Given the description of an element on the screen output the (x, y) to click on. 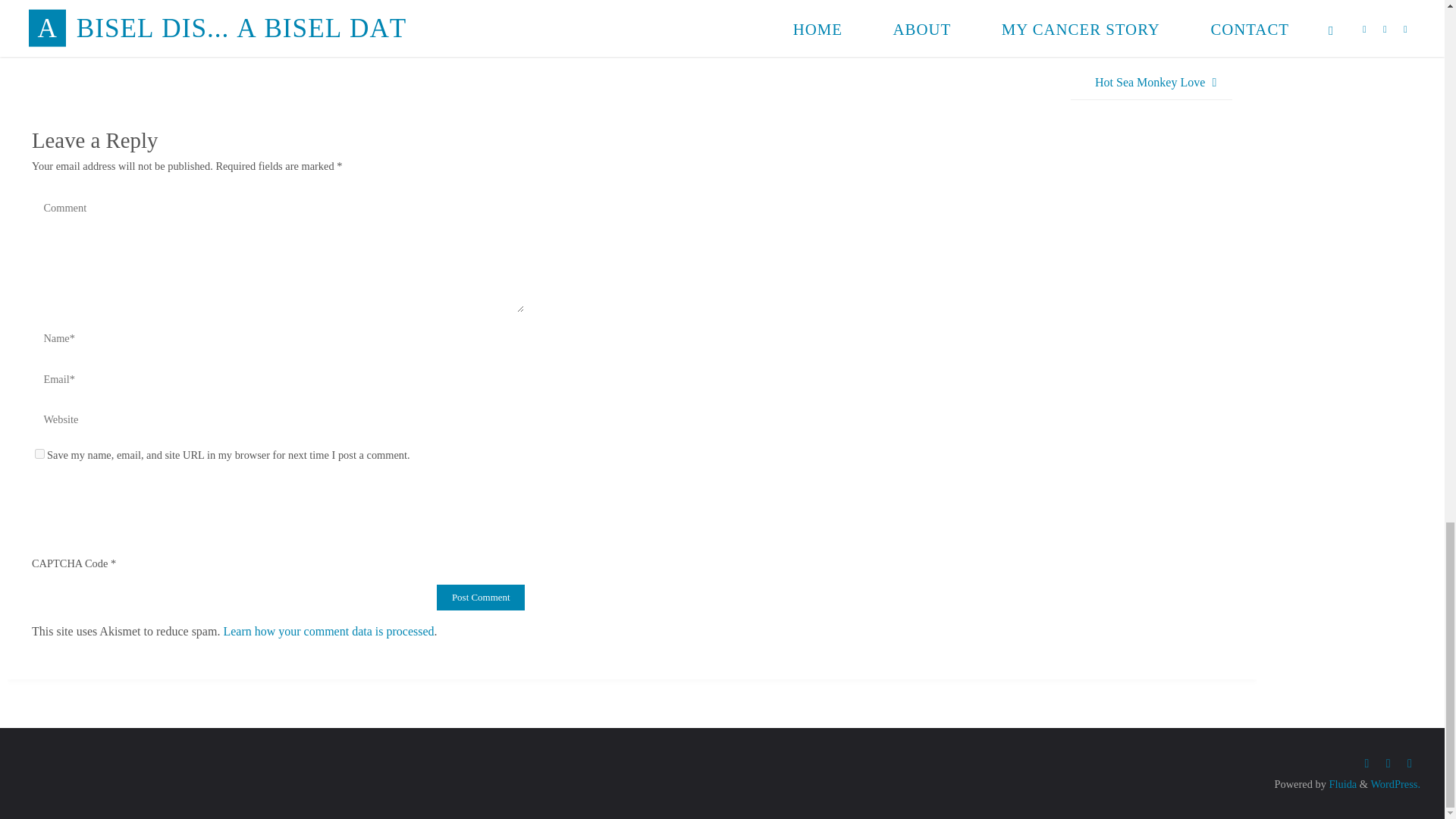
yes (39, 453)
Post Comment (480, 597)
Fluida WordPress Theme by Cryout Creations (1341, 784)
Refresh (140, 493)
CAPTCHA (82, 500)
Costa Maya (86, 48)
Learn how your comment data is processed (327, 631)
Post Comment (480, 597)
Hot Sea Monkey Love (1150, 82)
